Given the description of an element on the screen output the (x, y) to click on. 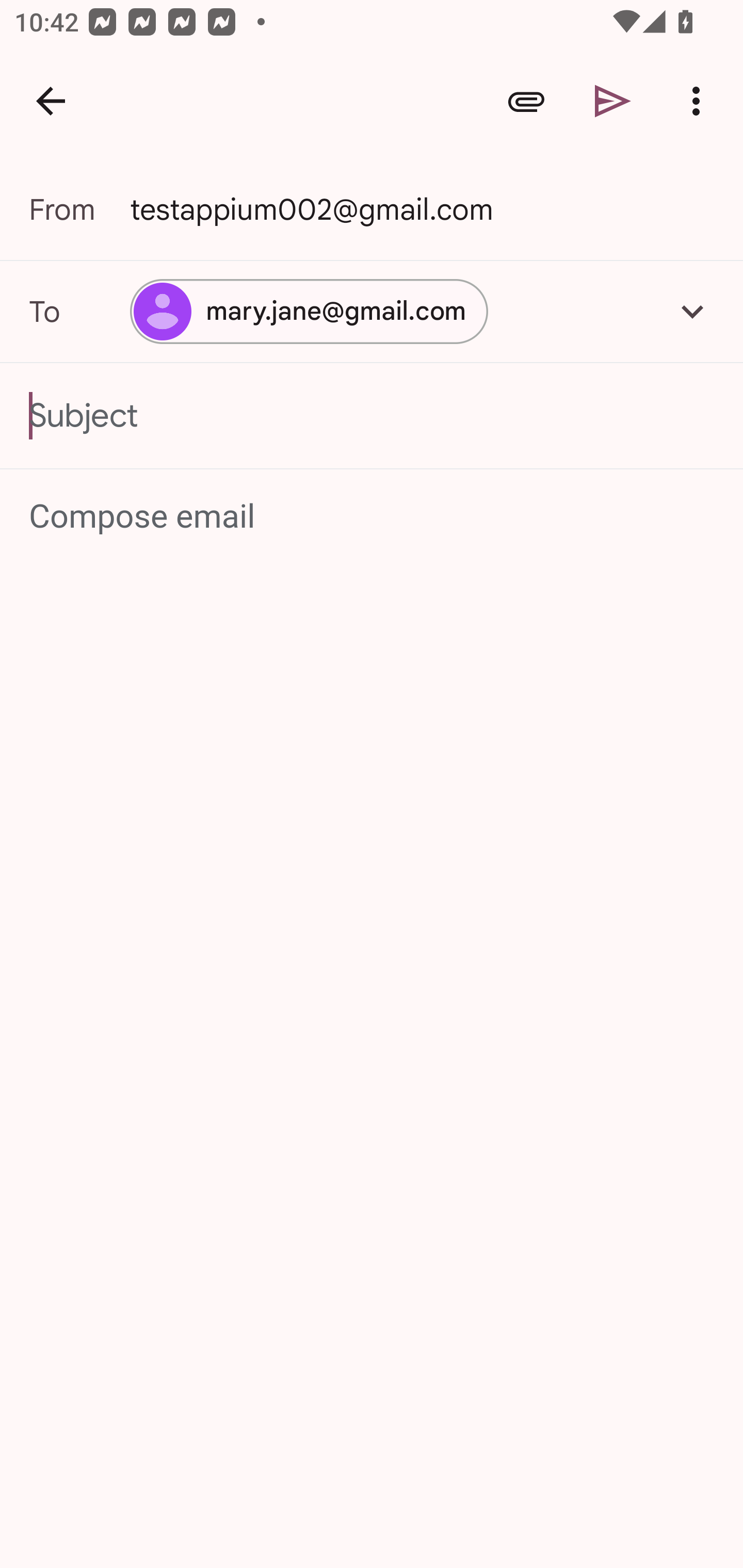
Navigate up (50, 101)
Attach file (525, 101)
Send (612, 101)
More options (699, 101)
From (79, 209)
Add Cc/Bcc (692, 311)
Subject (371, 415)
Compose email (372, 517)
